Given the description of an element on the screen output the (x, y) to click on. 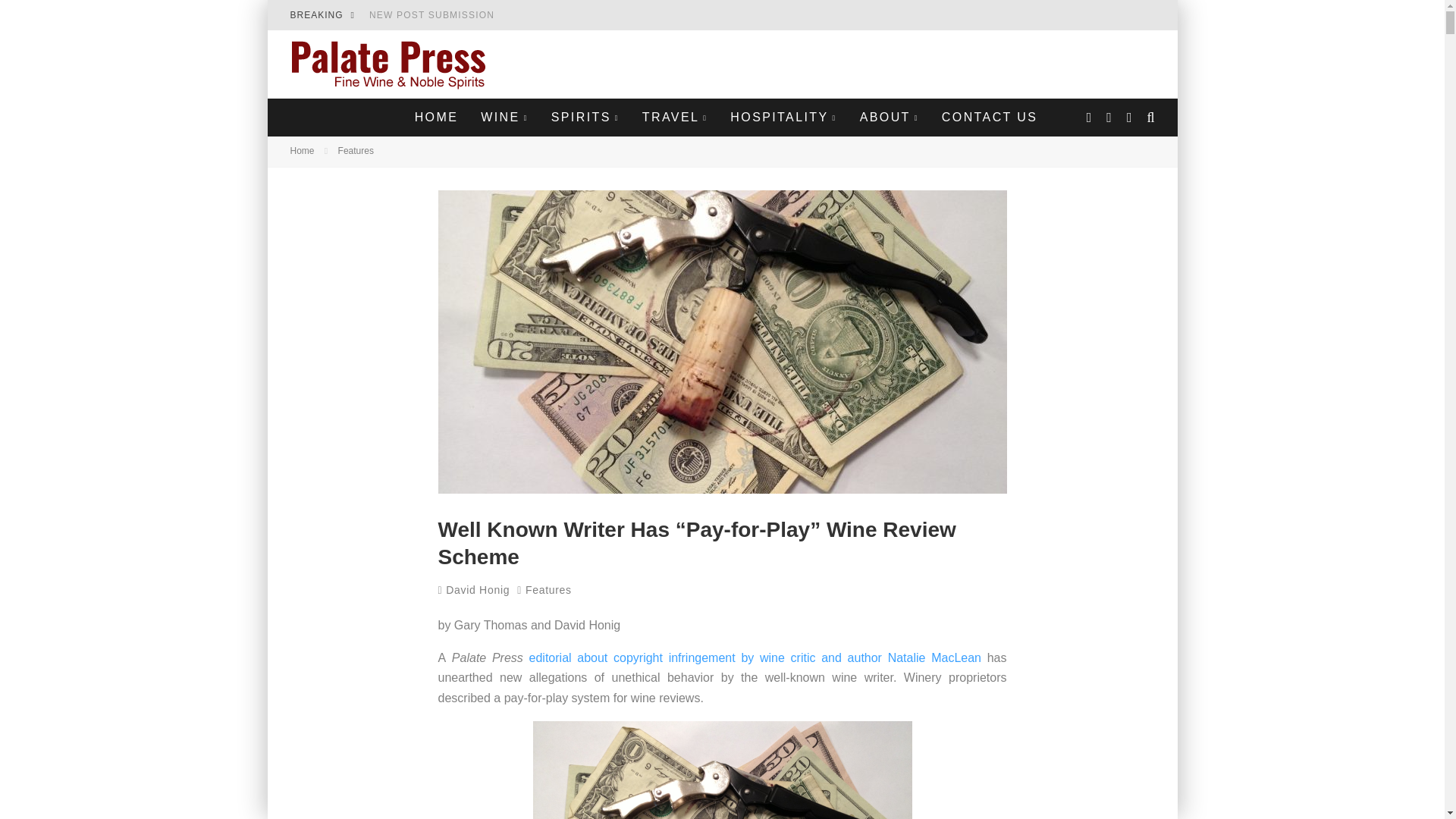
New Post Submission (432, 14)
HOME (436, 117)
NEW POST SUBMISSION (432, 14)
WINE (503, 117)
SPIRITS (585, 117)
